Given the description of an element on the screen output the (x, y) to click on. 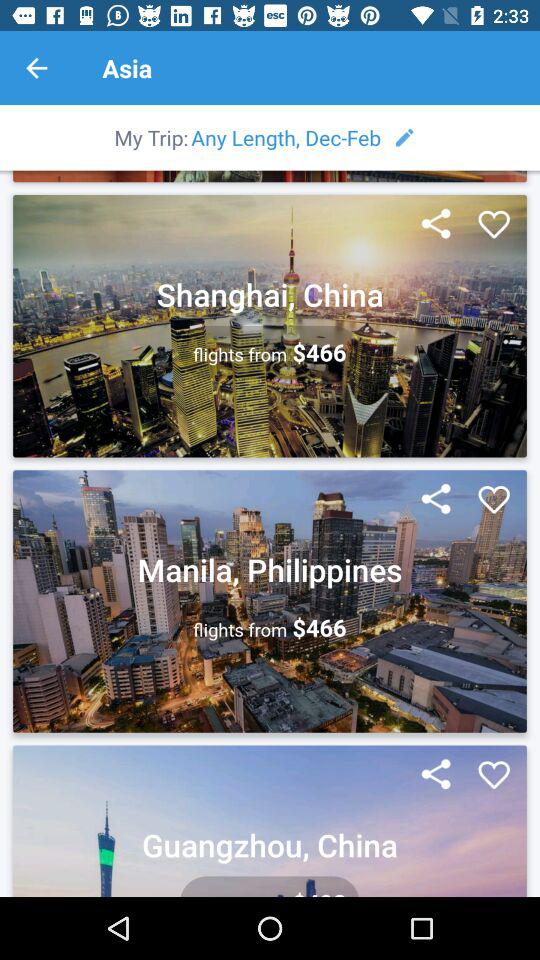
go back to main page (36, 68)
